Given the description of an element on the screen output the (x, y) to click on. 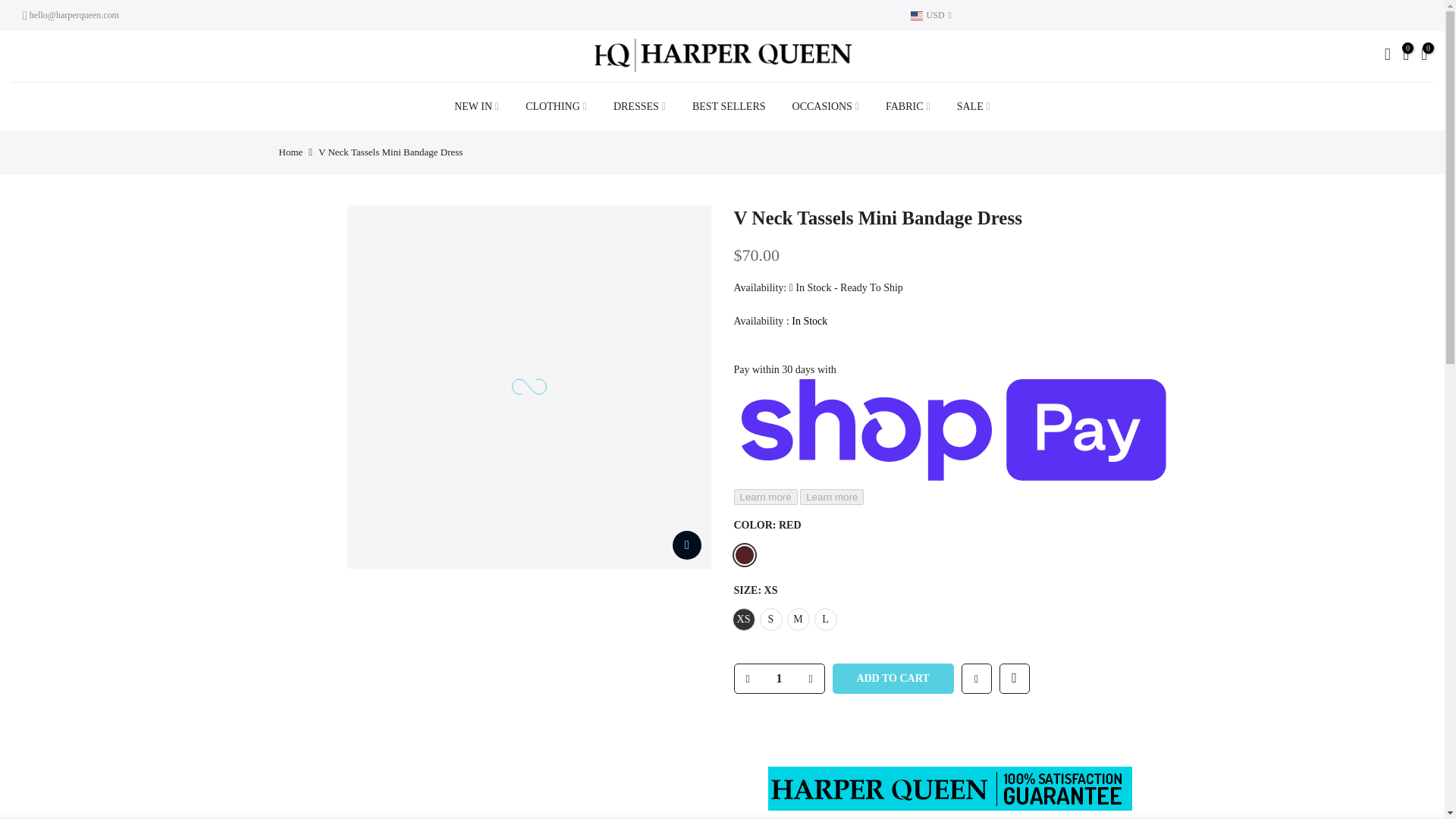
SALE (973, 106)
0 (1405, 55)
DRESSES (638, 106)
NEW IN (476, 106)
1 (778, 678)
OCCASIONS (825, 106)
Home (290, 151)
FABRIC (907, 106)
BEST SELLERS (728, 106)
CLOTHING (555, 106)
